Given the description of an element on the screen output the (x, y) to click on. 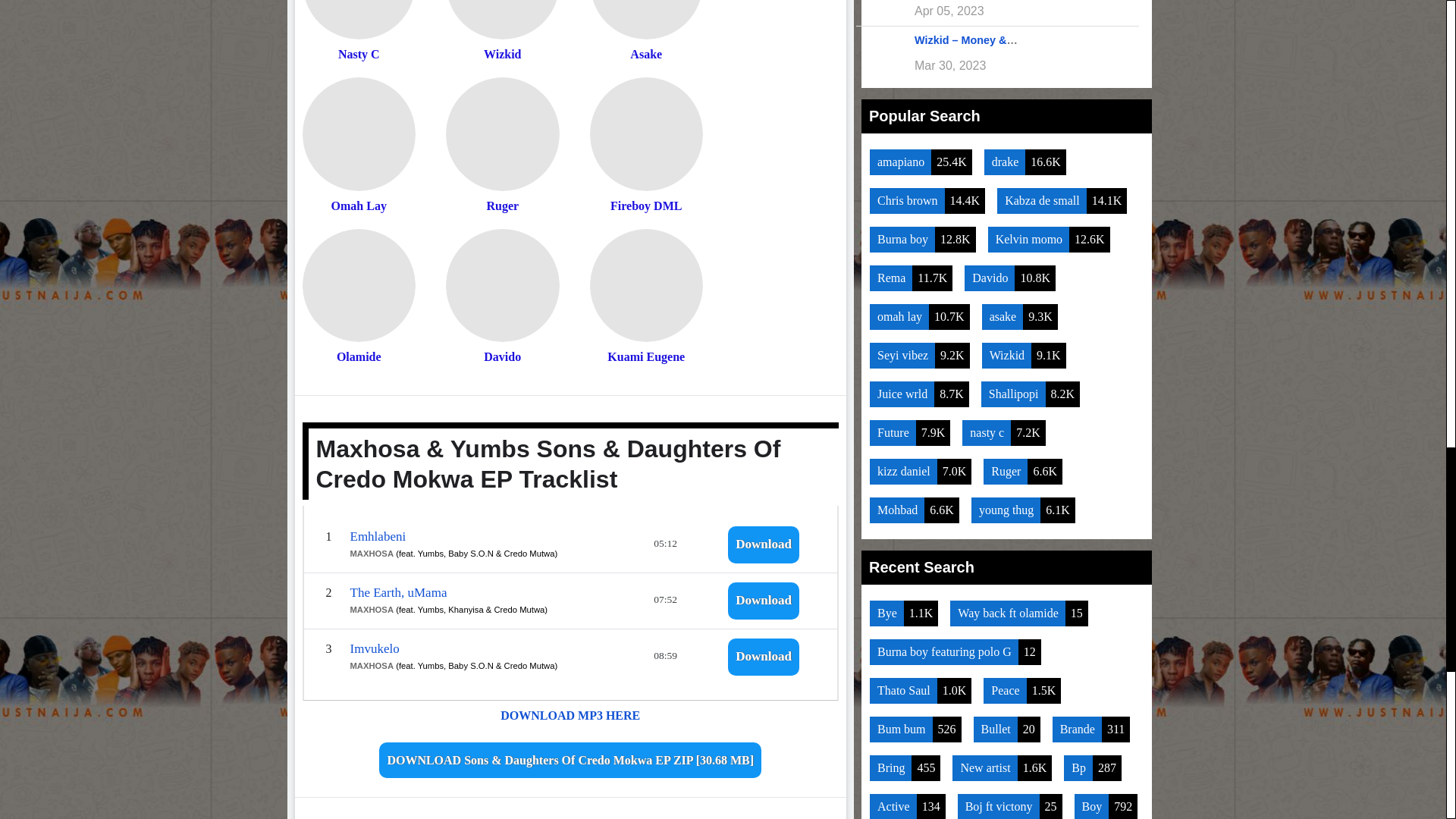
Fireboy DML (646, 133)
Nasty C (357, 20)
Omah Lay (357, 133)
Ruger (502, 133)
Davido (502, 286)
Kuami Eugene (646, 286)
Asake (646, 20)
Olamide (357, 286)
Wizkid (502, 20)
